Given the description of an element on the screen output the (x, y) to click on. 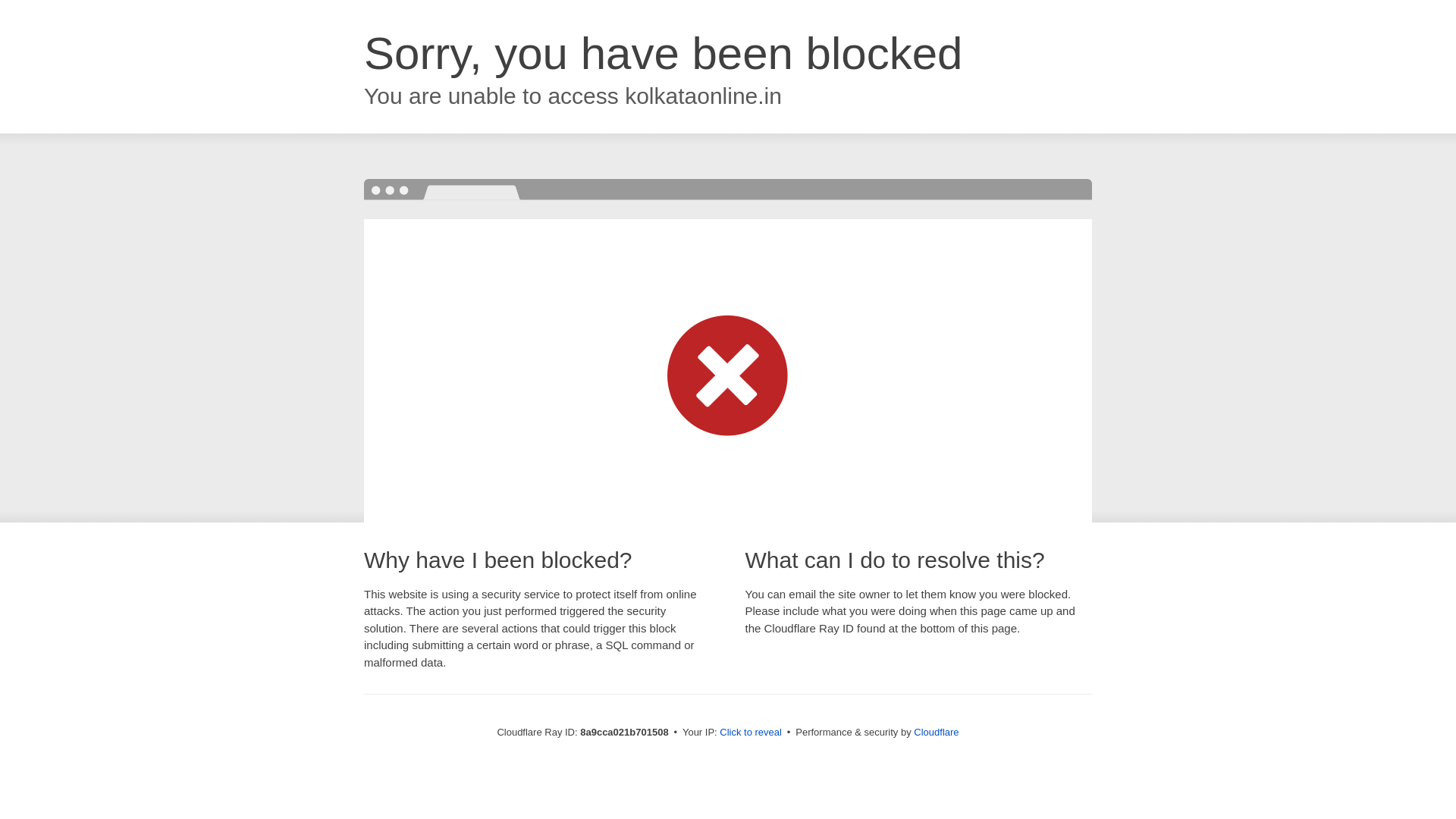
Cloudflare (936, 731)
Click to reveal (750, 732)
